Given the description of an element on the screen output the (x, y) to click on. 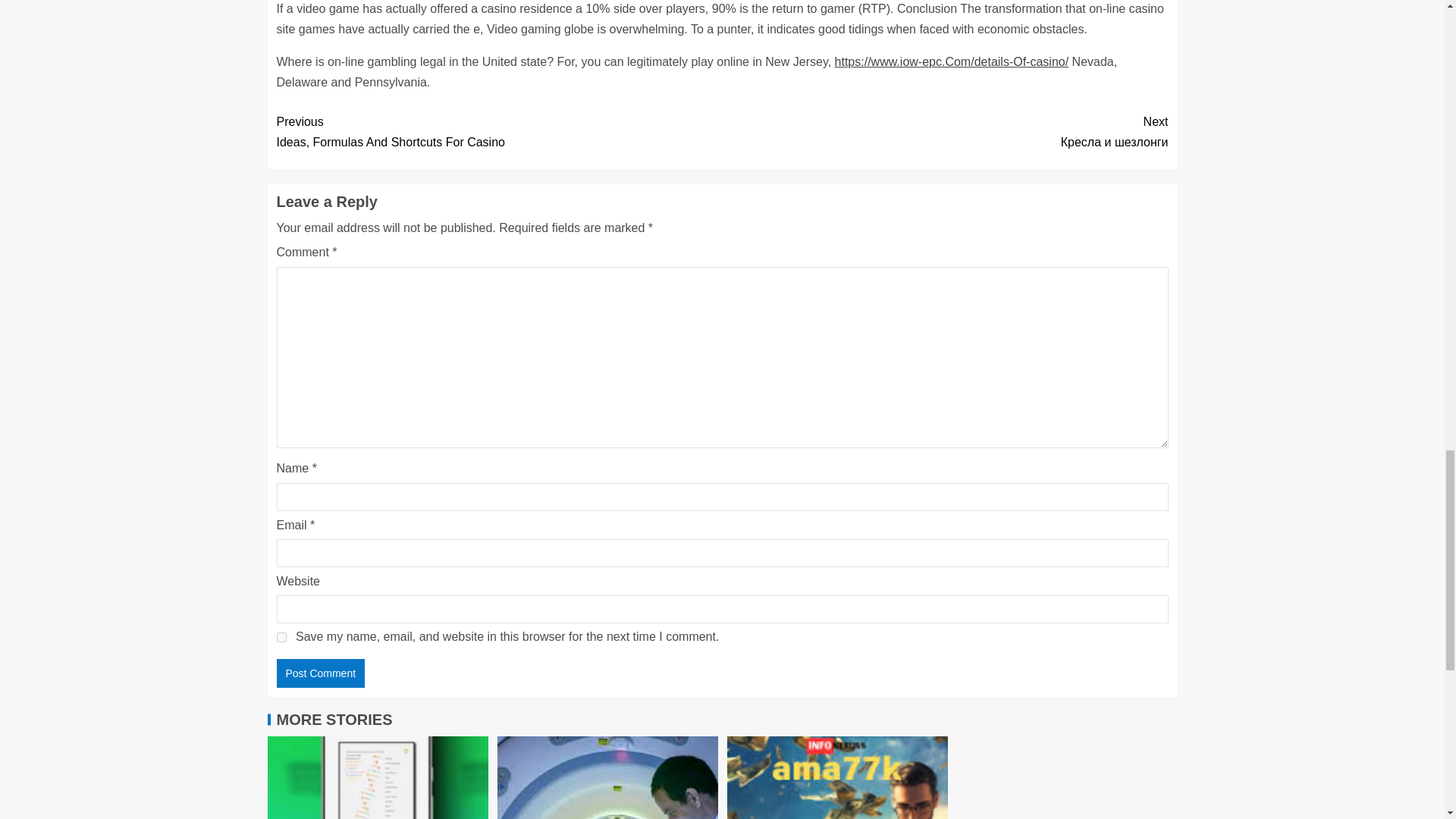
Post Comment (320, 673)
Post Comment (320, 673)
yes (499, 131)
